Given the description of an element on the screen output the (x, y) to click on. 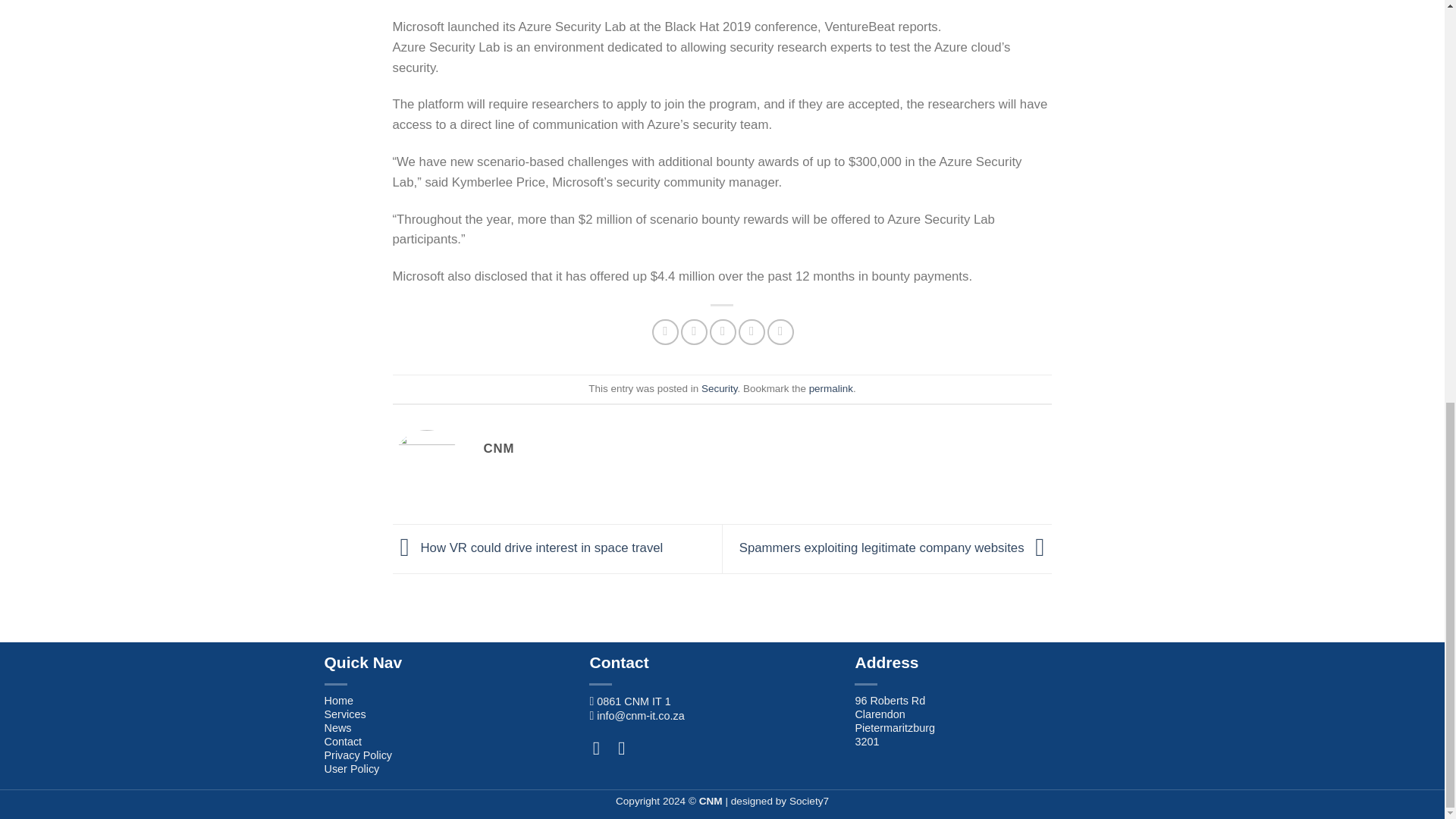
Home (338, 700)
Share on Facebook (665, 332)
Services (345, 714)
Security (719, 388)
Follow on Facebook (601, 749)
Contact (343, 741)
Share on Twitter (694, 332)
Follow on LinkedIn (627, 749)
Pin on Pinterest (751, 332)
News (338, 727)
